Given the description of an element on the screen output the (x, y) to click on. 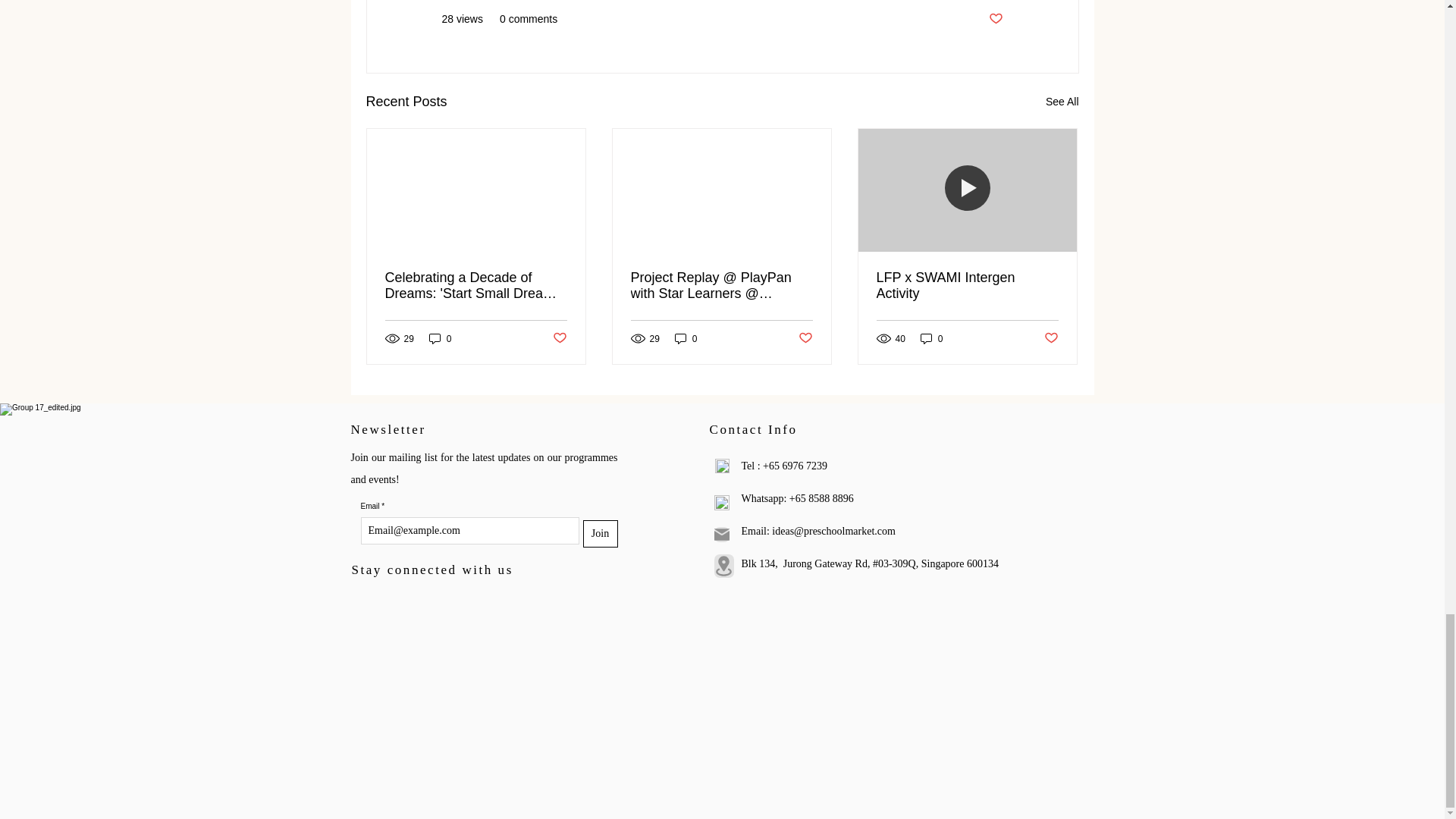
Icon awesome-phone-alt.png (721, 465)
Icon ionic-logo-whatsapp.png (721, 502)
